Given the description of an element on the screen output the (x, y) to click on. 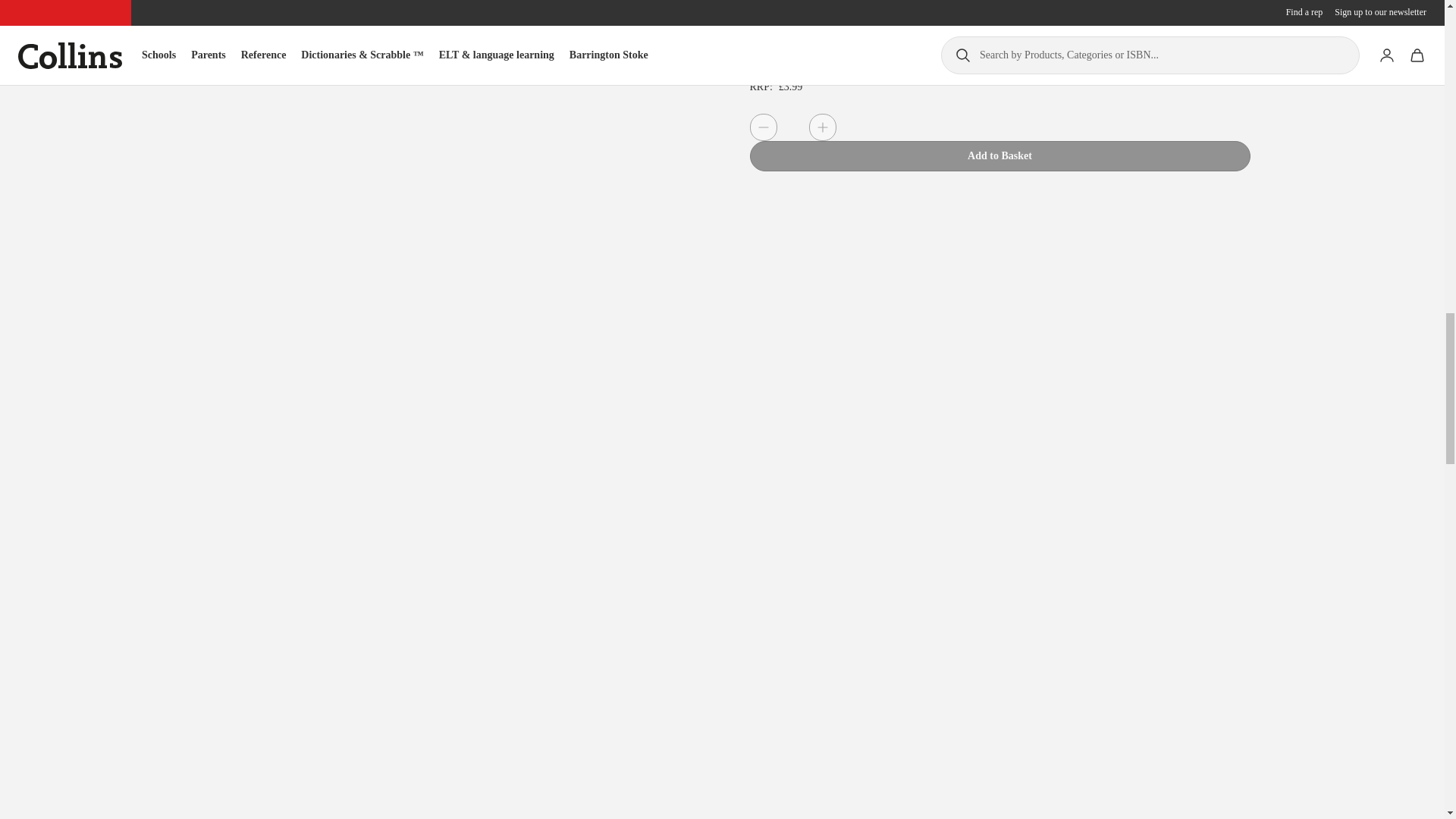
Add to Basket (999, 155)
Decrease quantity (762, 126)
Increase quantity (821, 126)
